Given the description of an element on the screen output the (x, y) to click on. 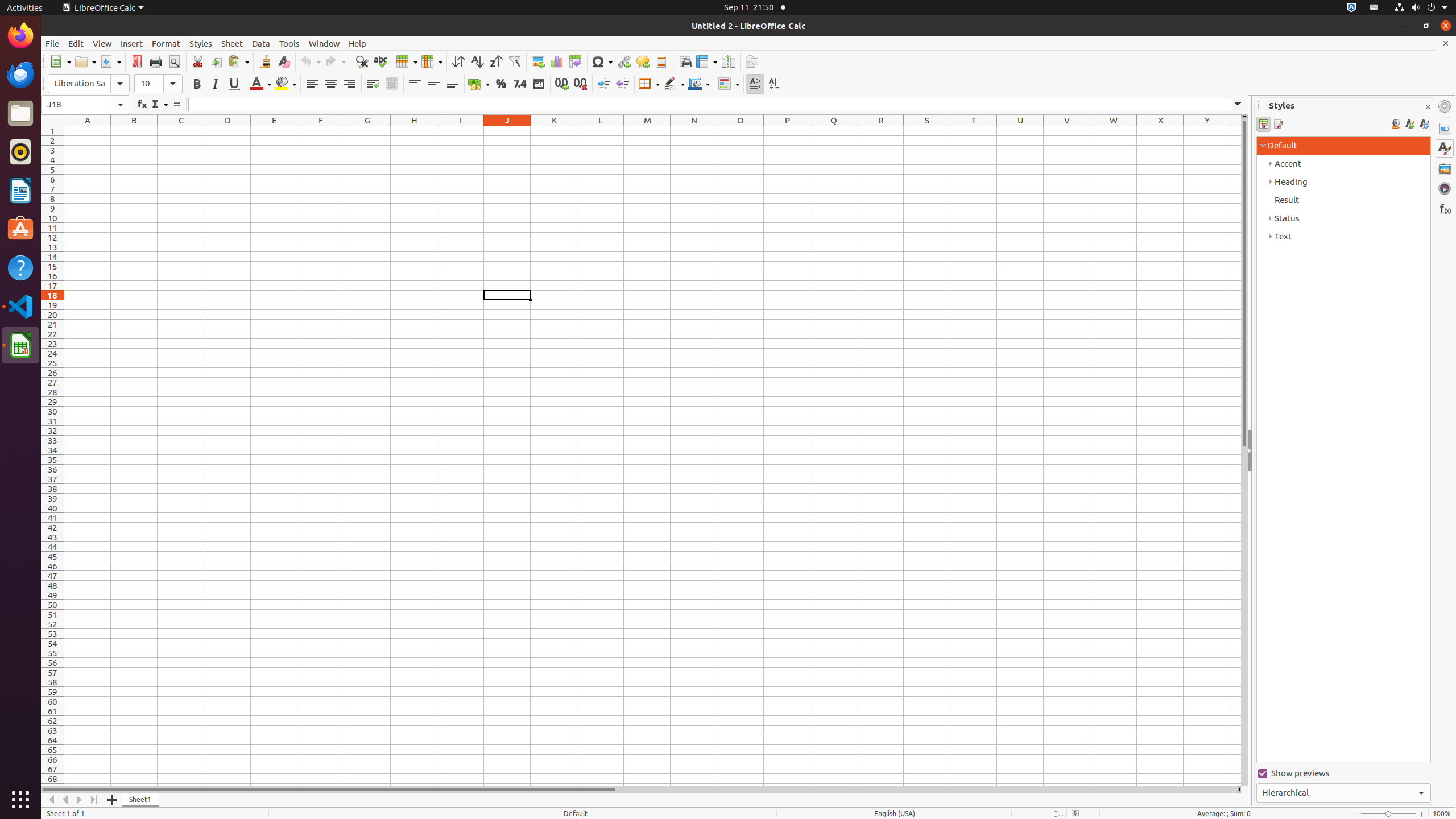
A1 Element type: table-cell (87, 130)
Align Top Element type: push-button (414, 83)
Italic Element type: toggle-button (214, 83)
Center Vertically Element type: push-button (433, 83)
Data Element type: menu (260, 43)
